Given the description of an element on the screen output the (x, y) to click on. 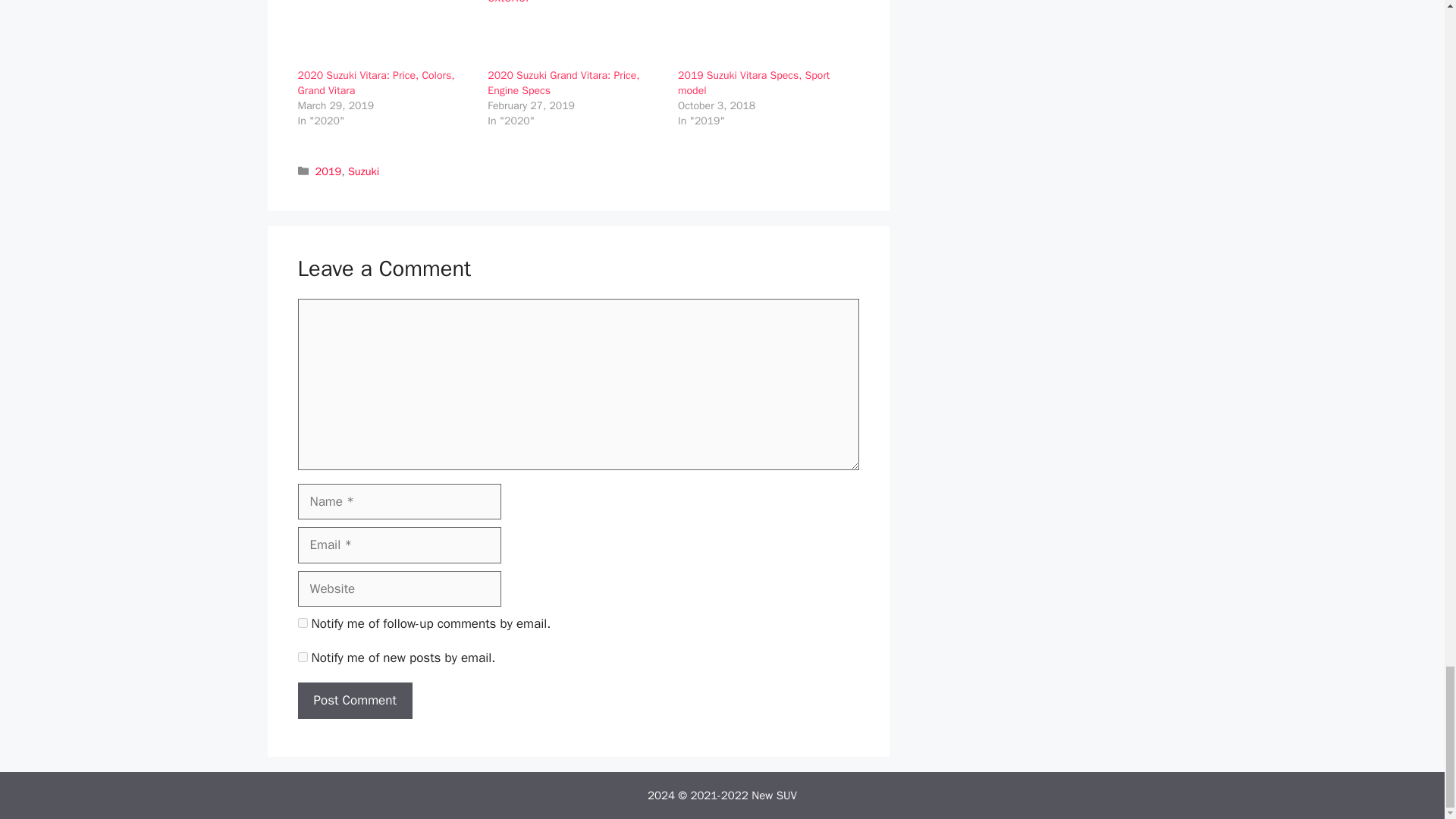
2020 Suzuki Grand Vitara: Price, Engine Specs (563, 82)
subscribe (302, 656)
subscribe (302, 623)
2020 Suzuki Vitara: Price, Colors, Grand Vitara (384, 33)
2020 Suzuki Grand Vitara: Price, Engine Specs (574, 33)
2020 Suzuki Grand Vitara: Price, Engine Specs (563, 82)
2020 Suzuki Vitara: Price, Colors, Grand Vitara (375, 82)
2020 Suzuki Vitara: Price, Colors, Grand Vitara (375, 82)
Post Comment (354, 700)
